Given the description of an element on the screen output the (x, y) to click on. 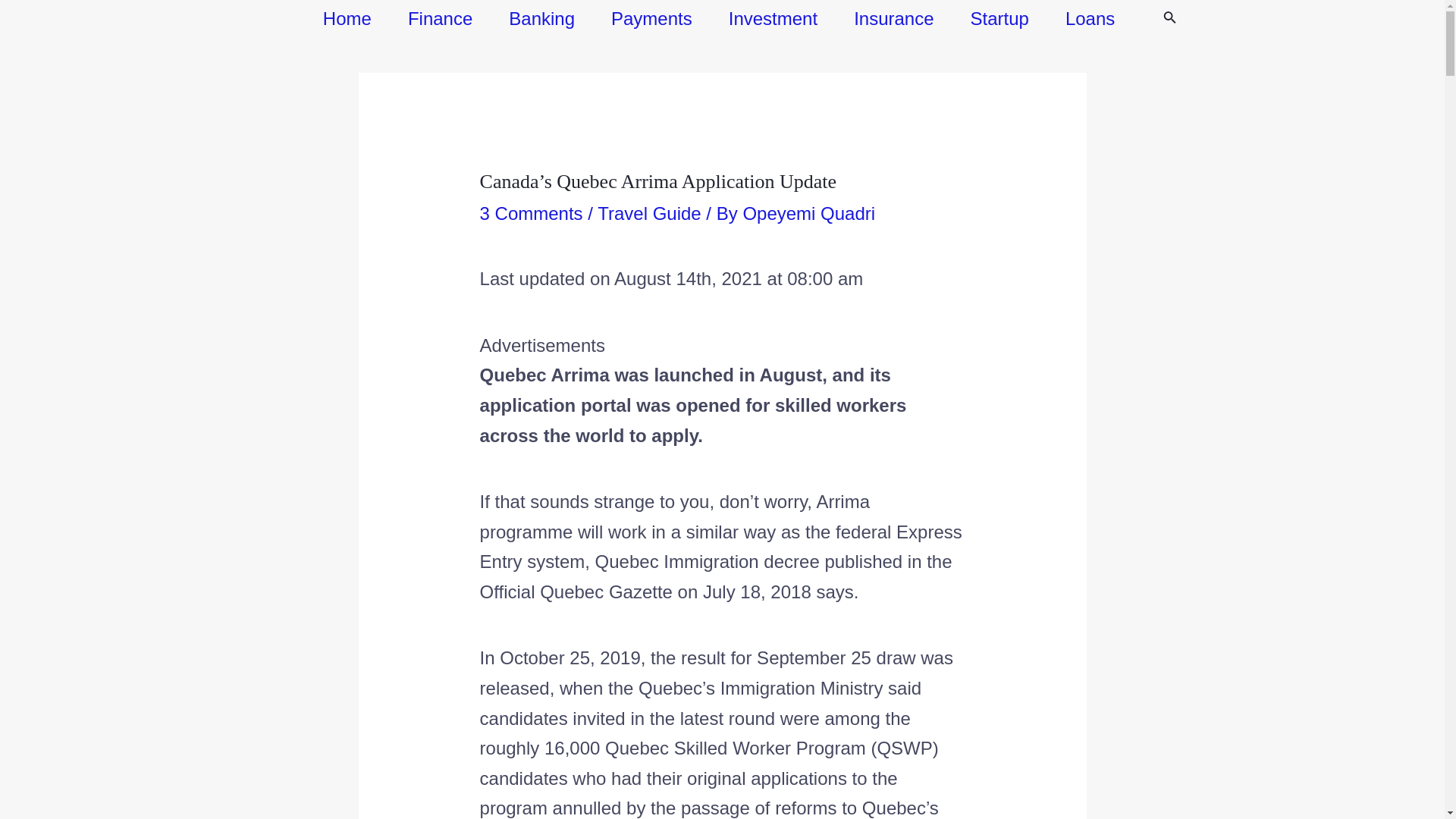
Home (347, 18)
Insurance (893, 18)
Payments (651, 18)
Startup (999, 18)
3 Comments (531, 213)
Loans (1089, 18)
View all posts by Opeyemi Quadri (808, 213)
Travel Guide (648, 213)
Investment (772, 18)
Banking (541, 18)
Finance (440, 18)
Opeyemi Quadri (808, 213)
